Given the description of an element on the screen output the (x, y) to click on. 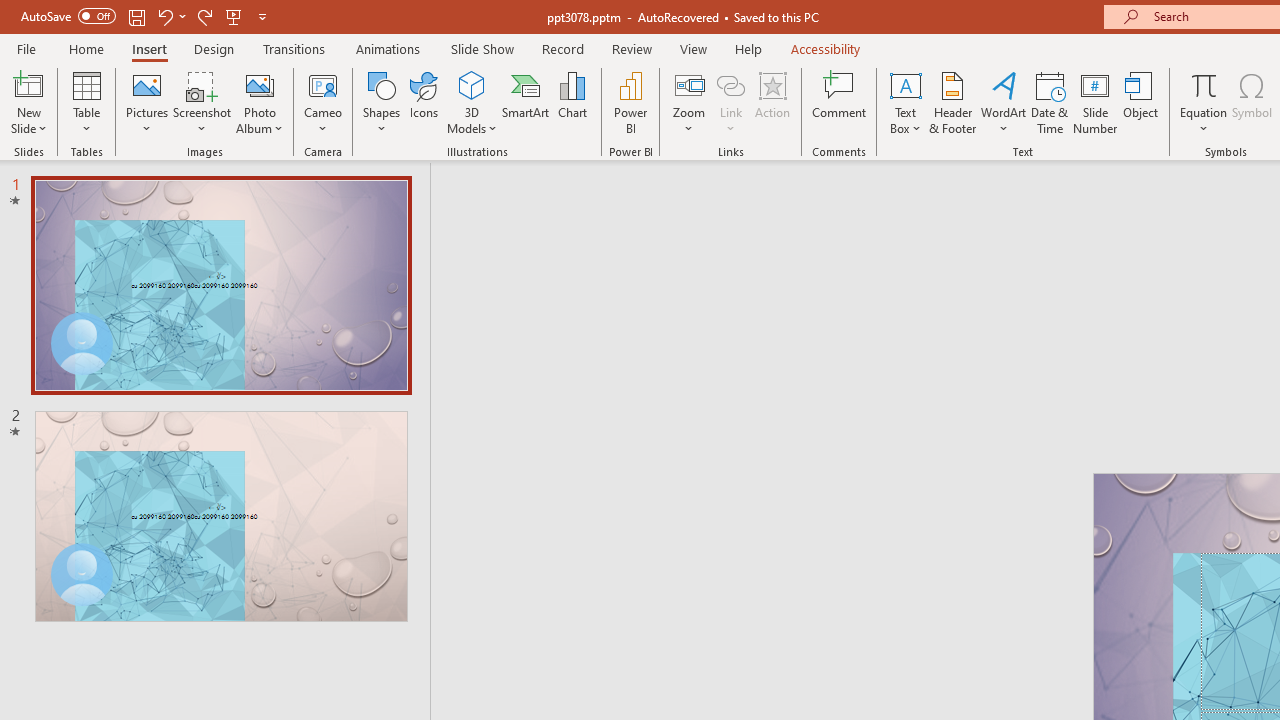
Chart... (572, 102)
Object... (1141, 102)
Action (772, 102)
3D Models (472, 84)
Link (731, 84)
WordArt (1004, 102)
Slide Number (1095, 102)
Equation (1203, 102)
